Given the description of an element on the screen output the (x, y) to click on. 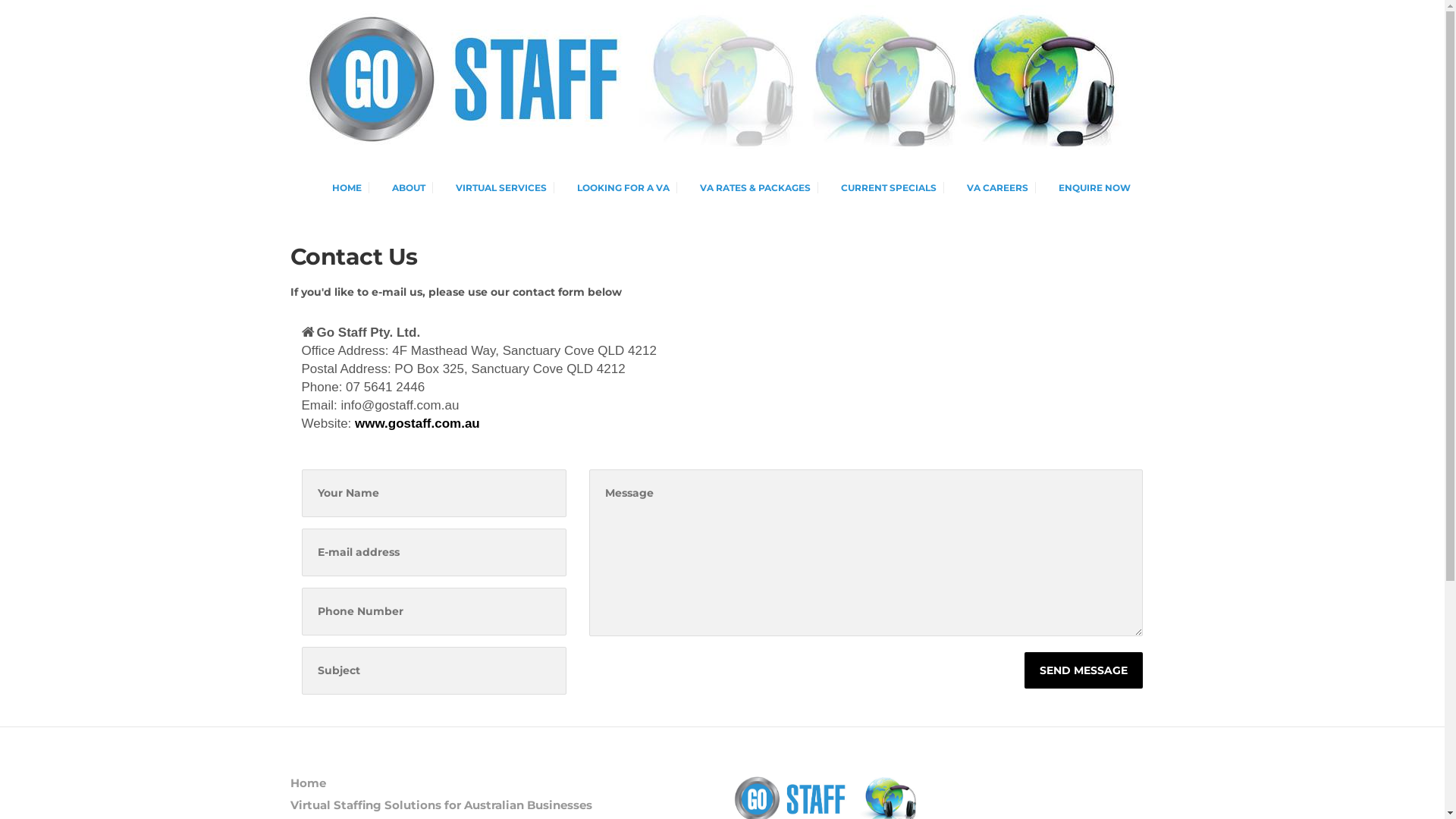
Virtual Staffing Solutions for Australian Businesses Element type: text (499, 805)
www.gostaff.com.au Element type: text (417, 423)
CURRENT SPECIALS Element type: text (881, 187)
Home Element type: text (499, 783)
LOOKING FOR A VA Element type: text (615, 187)
ENQUIRE NOW Element type: text (1086, 187)
VA CAREERS Element type: text (989, 187)
ABOUT Element type: text (401, 187)
SEND MESSAGE Element type: text (1083, 670)
VIRTUAL SERVICES Element type: text (493, 187)
VA RATES & PACKAGES Element type: text (747, 187)
HOME Element type: text (339, 187)
